Given the description of an element on the screen output the (x, y) to click on. 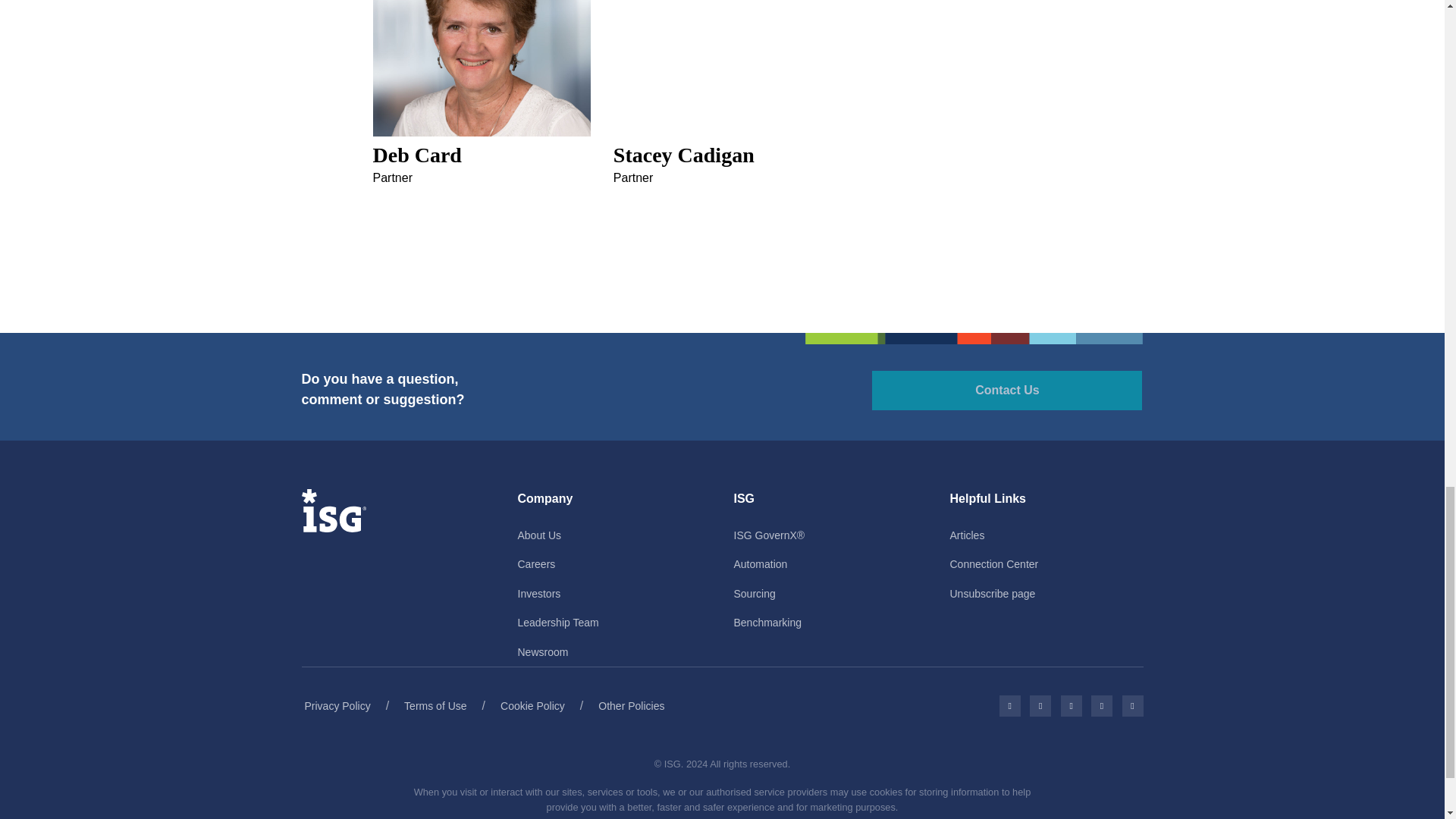
Subscribe on YouTube (1101, 705)
Like us on Facebook (1009, 705)
Follow us on LinkedIn (1071, 705)
Bar (973, 337)
Follow us on Twitter (1040, 705)
Feed for RSS readers (1132, 705)
